Given the description of an element on the screen output the (x, y) to click on. 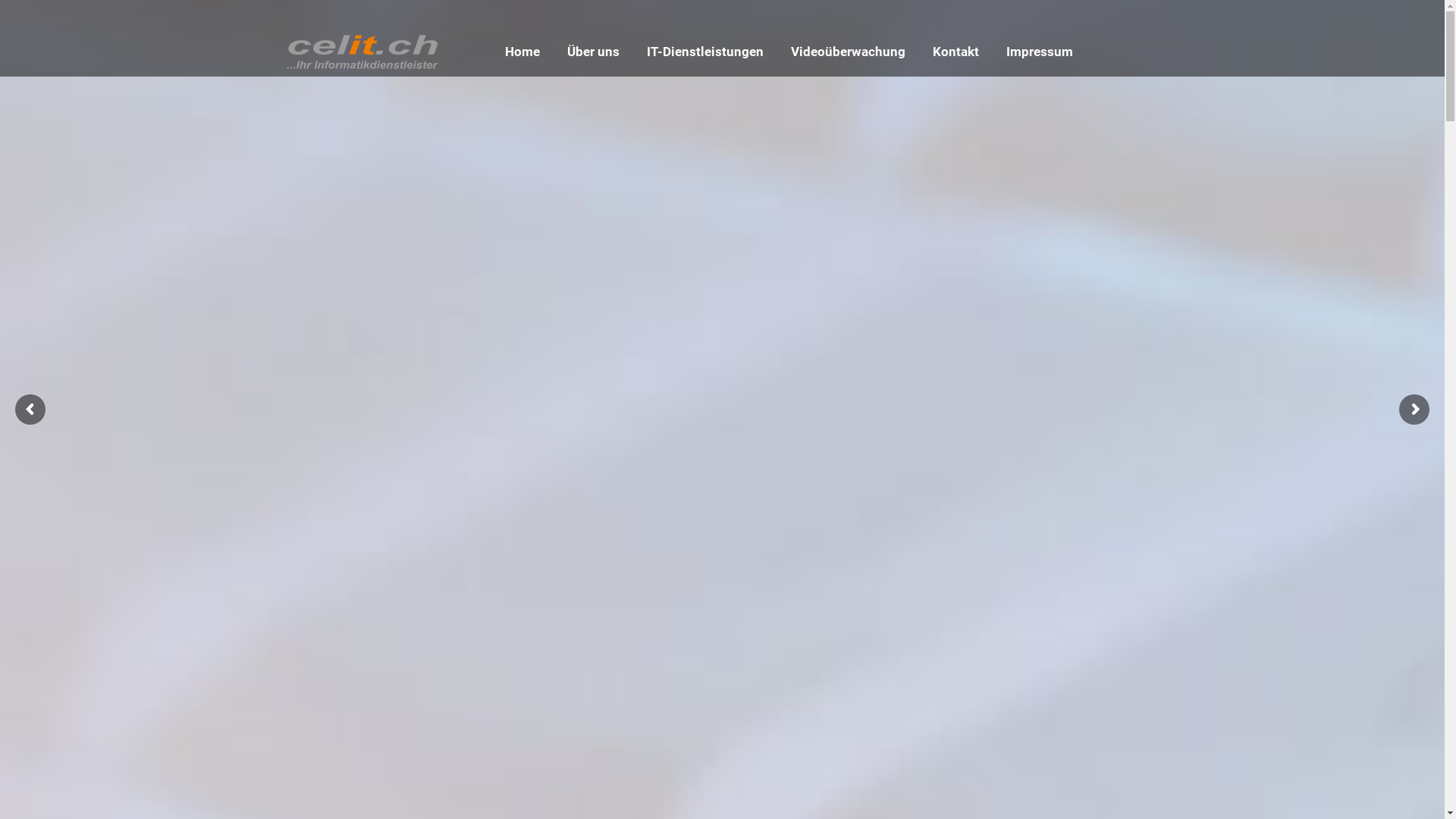
Impressum Element type: text (1038, 51)
Home Element type: text (522, 51)
Kontakt Element type: text (955, 51)
Go! Element type: text (23, 16)
IT-Dienstleistungen Element type: text (704, 51)
